Given the description of an element on the screen output the (x, y) to click on. 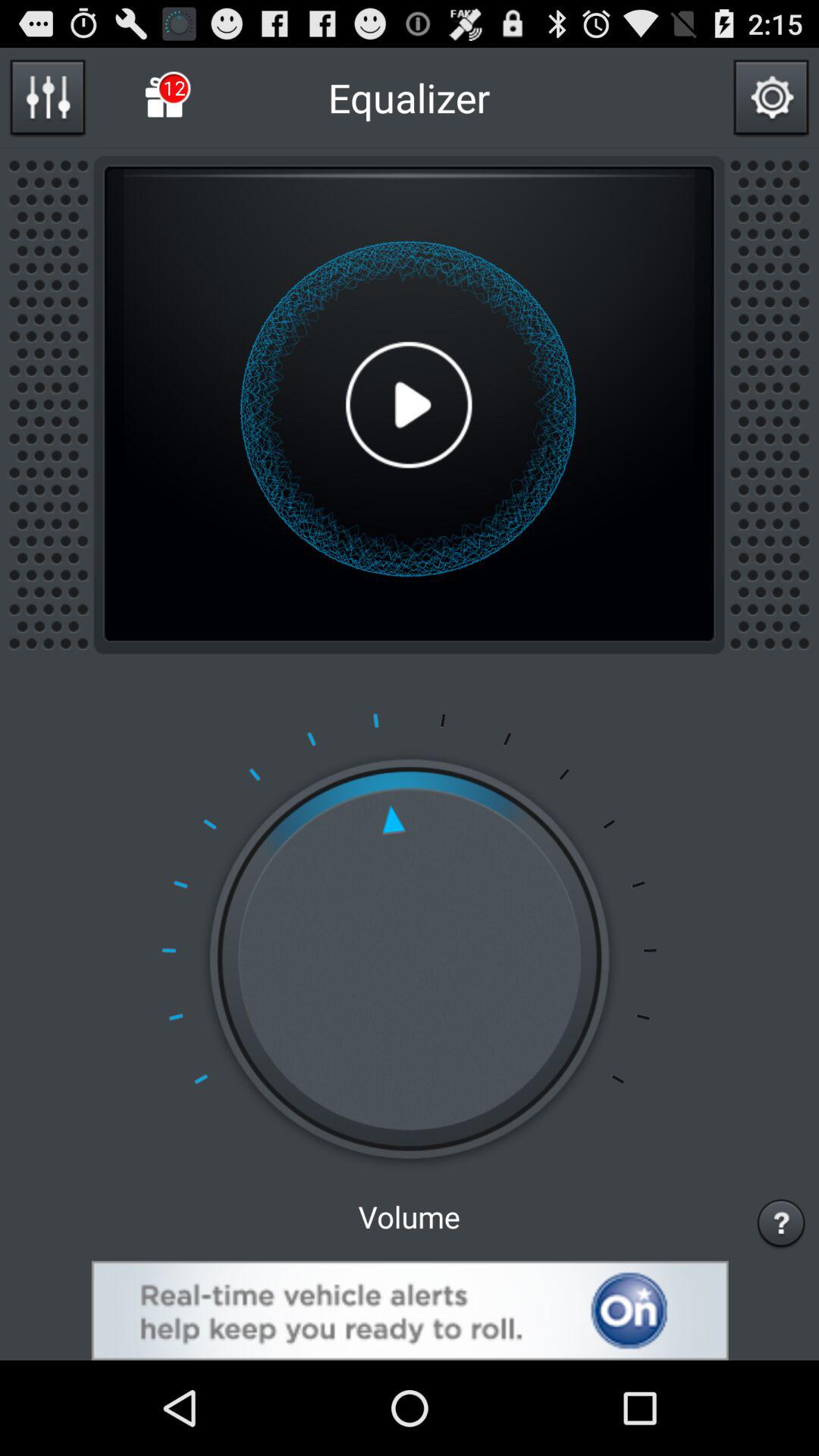
play the selected media (408, 404)
